Given the description of an element on the screen output the (x, y) to click on. 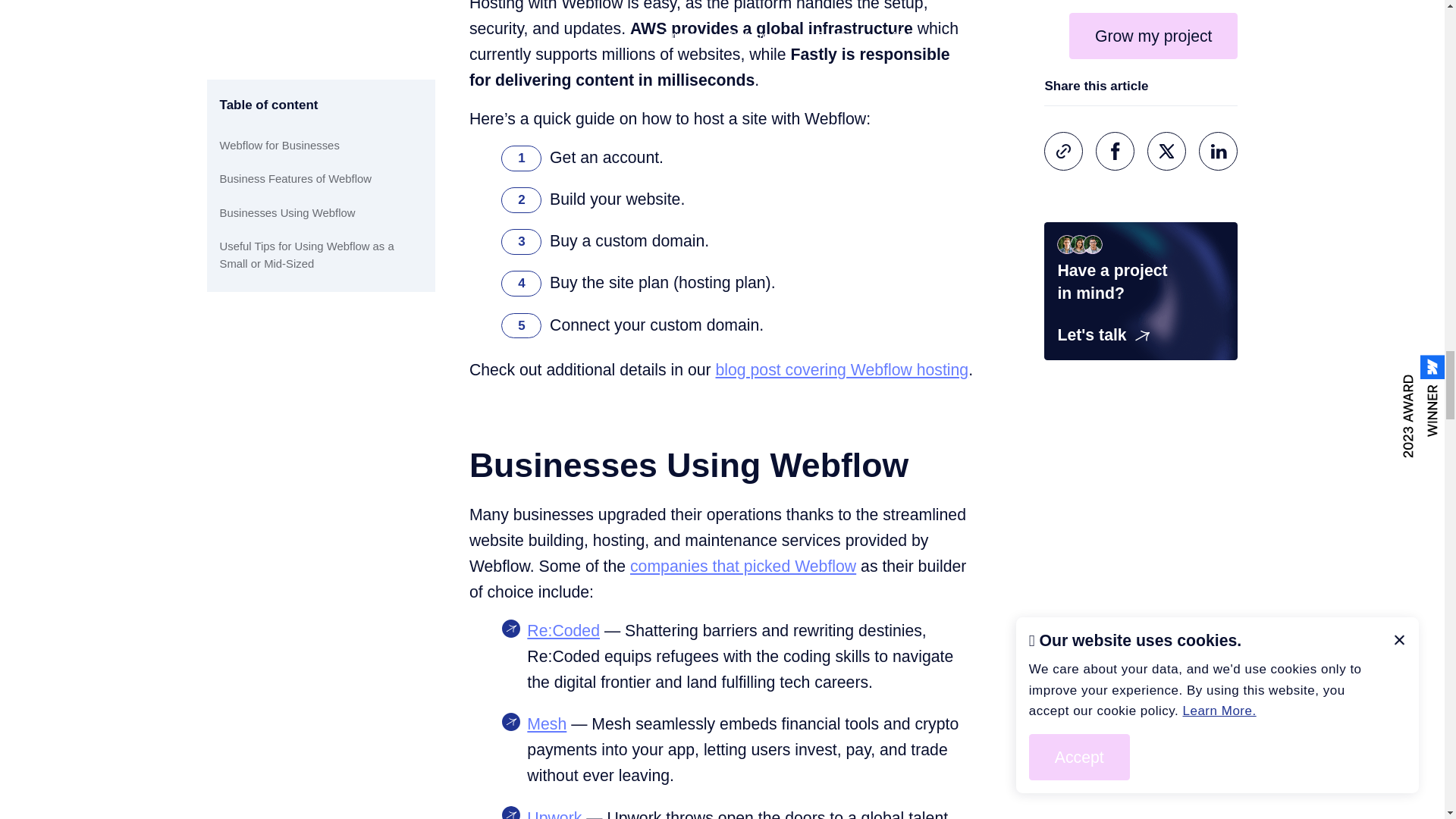
companies that picked Webflow (743, 566)
Re:Coded (563, 630)
Mesh (546, 723)
Upwork (553, 813)
blog post covering Webflow hosting (842, 370)
